Given the description of an element on the screen output the (x, y) to click on. 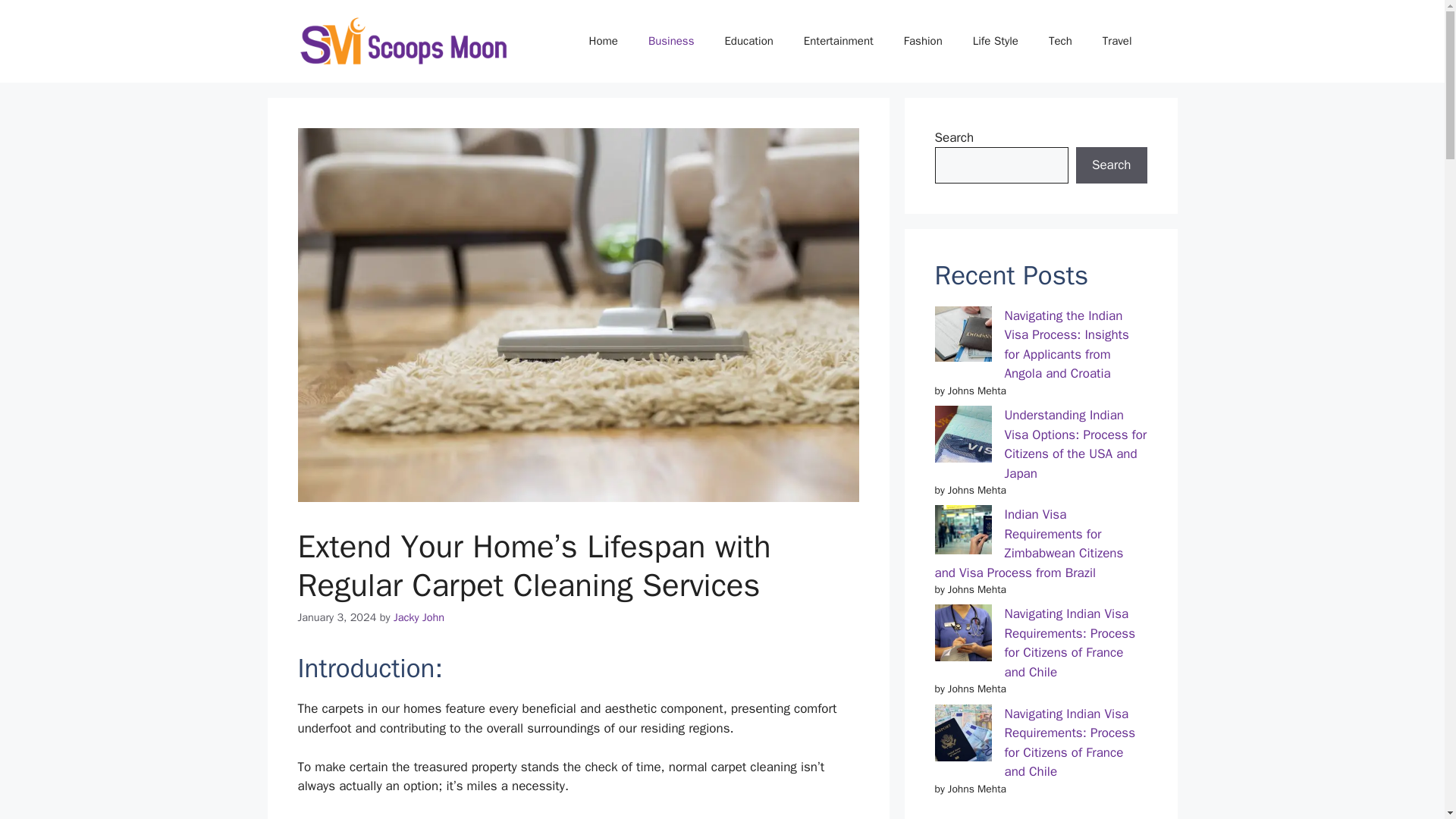
Fashion (923, 40)
Travel (1117, 40)
Home (603, 40)
Education (748, 40)
Search (1111, 165)
Life Style (995, 40)
Business (671, 40)
View all posts by Jacky John (418, 617)
Entertainment (838, 40)
Tech (1060, 40)
Jacky John (418, 617)
